Given the description of an element on the screen output the (x, y) to click on. 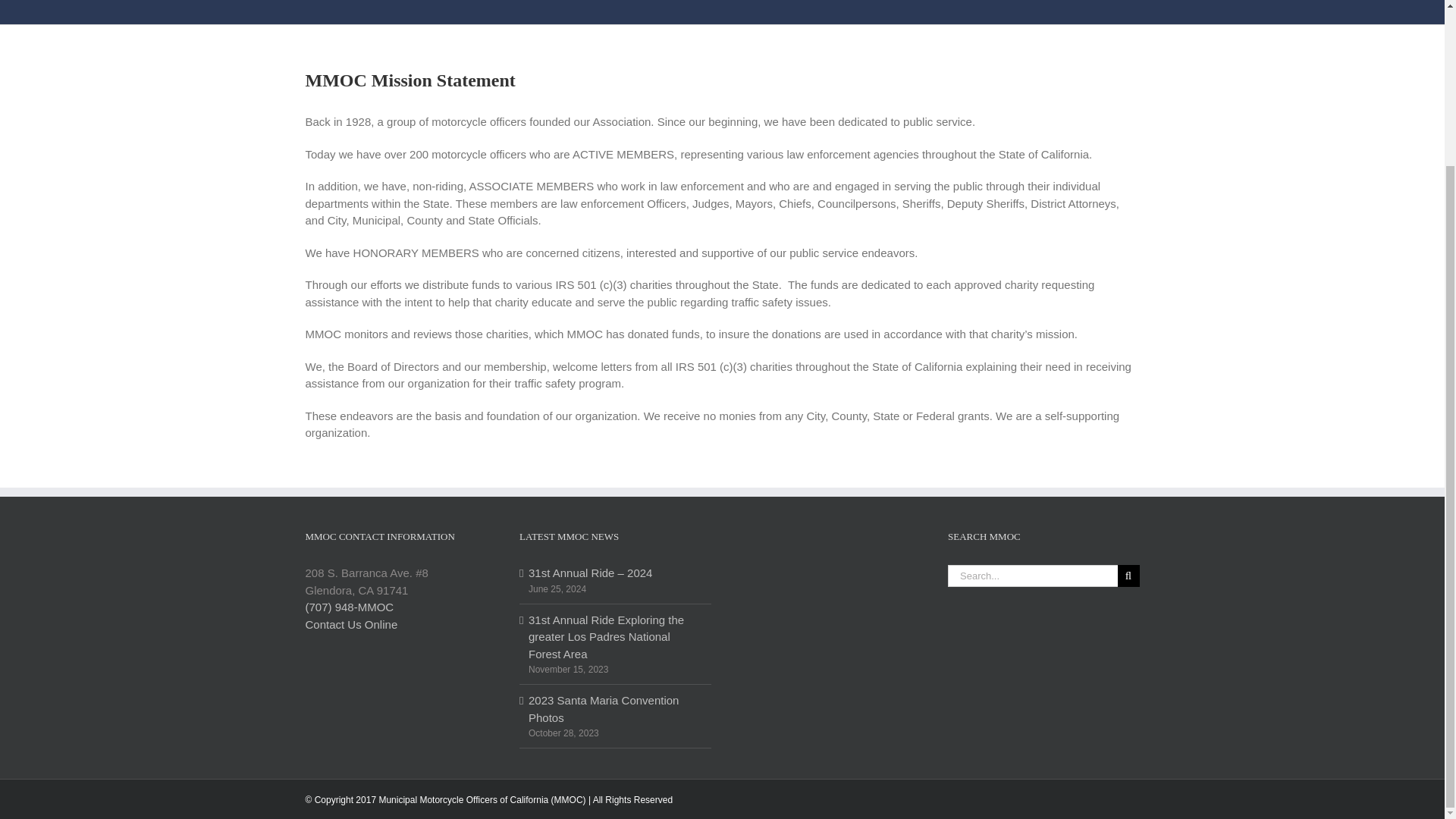
Contact Us Online (350, 624)
2023 Santa Maria Convention Photos (615, 709)
